Given the description of an element on the screen output the (x, y) to click on. 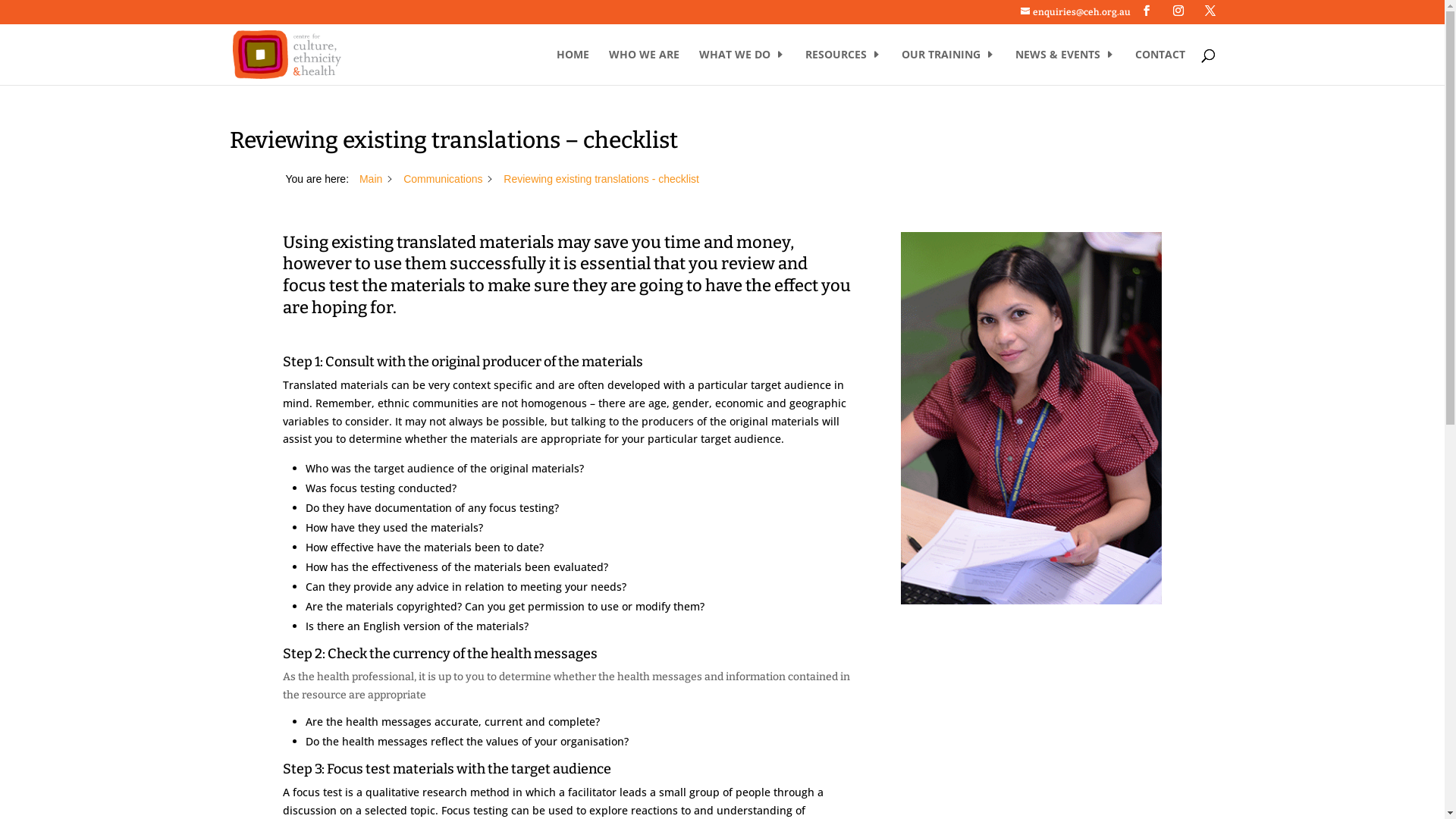
HOME Element type: text (572, 66)
enquiries@ceh.org.au Element type: text (1075, 11)
CONTACT Element type: text (1159, 66)
WHO WE ARE Element type: text (643, 66)
OUR TRAINING Element type: text (947, 66)
Communications Element type: text (442, 178)
Main Element type: text (370, 178)
RESOURCES Element type: text (843, 66)
NEWS & EVENTS Element type: text (1064, 66)
WHAT WE DO Element type: text (742, 66)
